Given the description of an element on the screen output the (x, y) to click on. 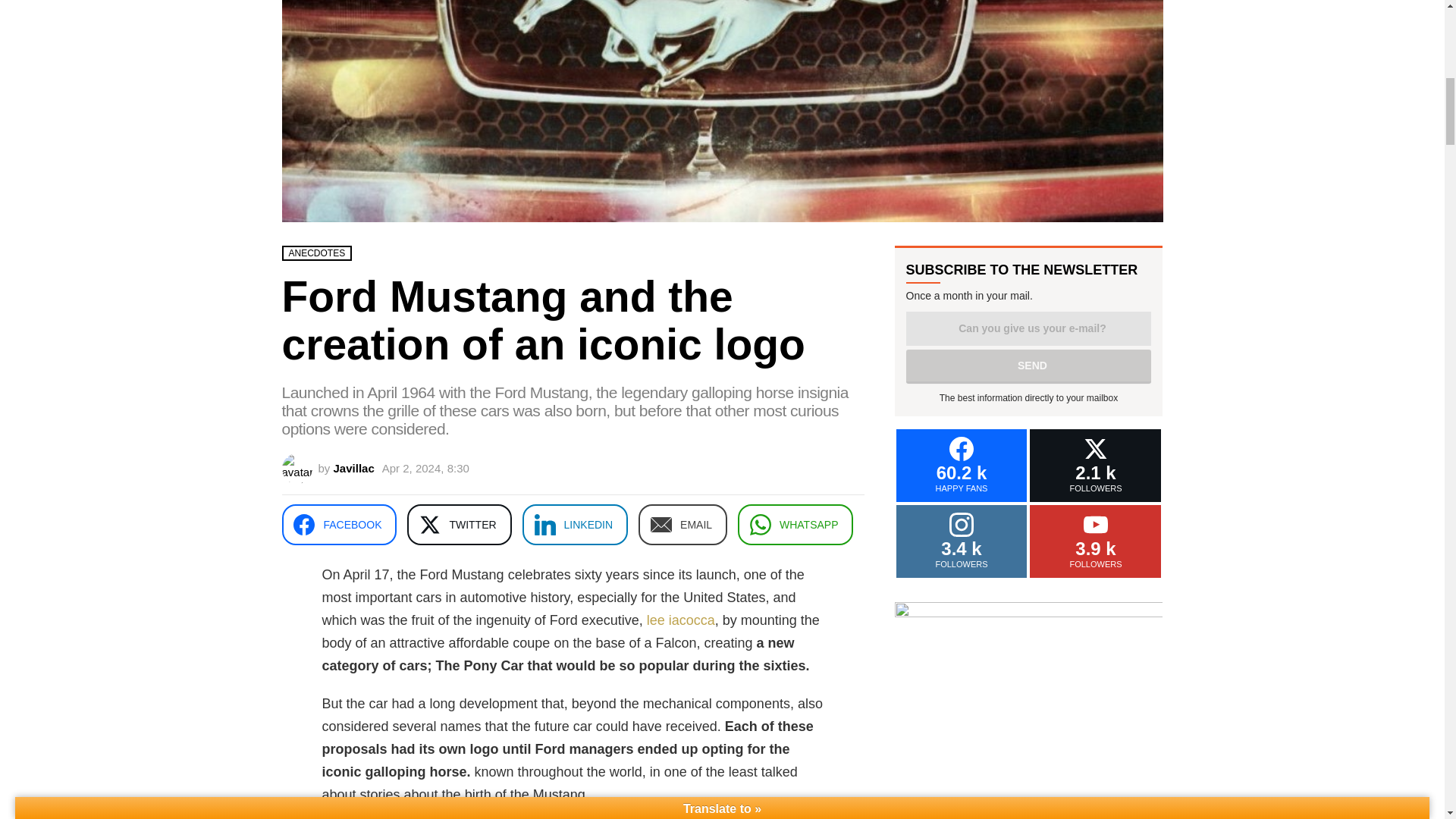
Share on WhatsApp (795, 524)
Share on Facebook (339, 524)
Posts by Javillac (353, 468)
Share on Twitter (459, 524)
Share on LinkedIn (575, 524)
Share on Email (682, 524)
Send (1028, 366)
